Given the description of an element on the screen output the (x, y) to click on. 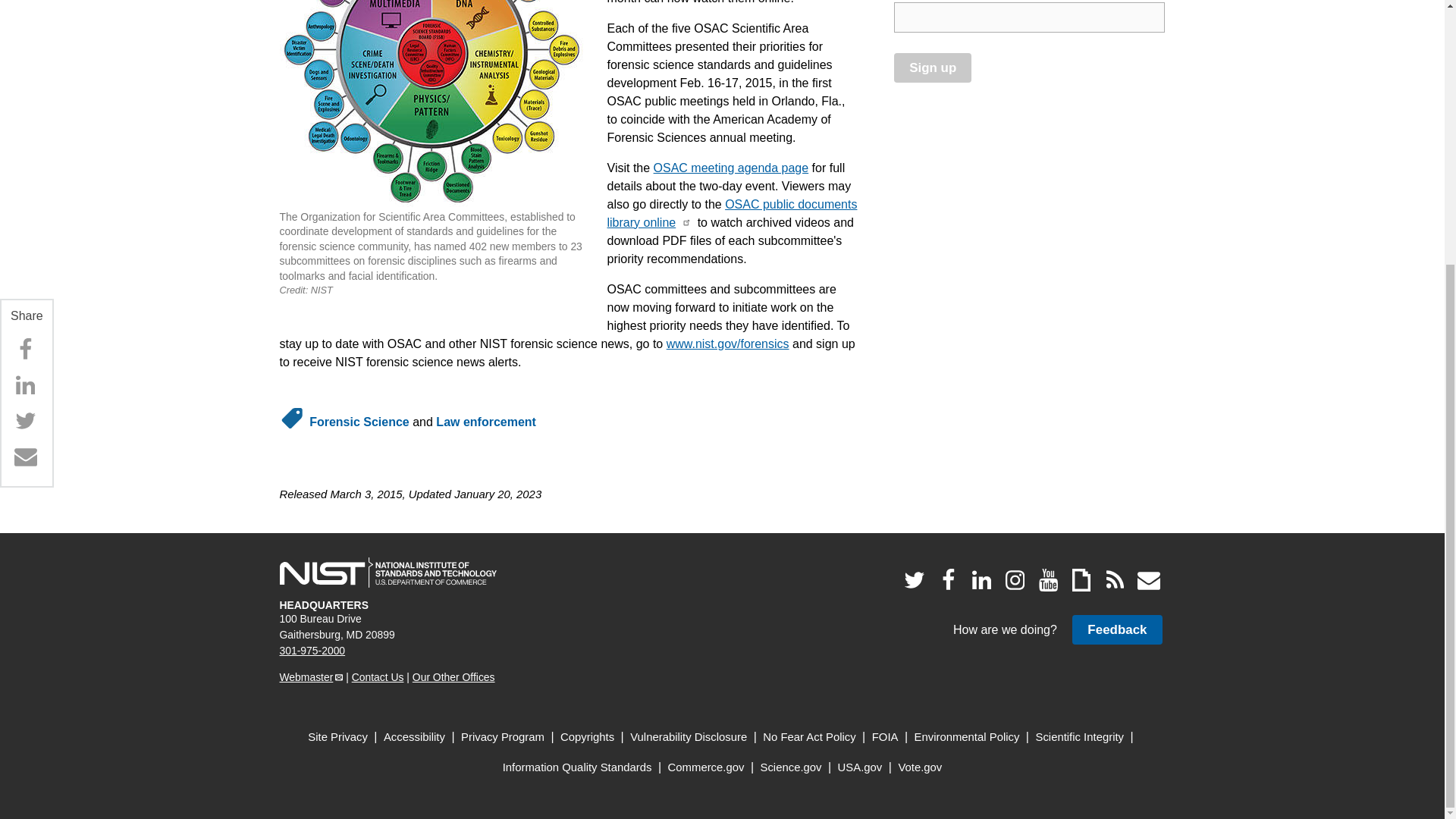
301-975-2000 (312, 650)
Our Other Offices (453, 676)
Forensic Science (358, 421)
Sign up (932, 67)
OSAC public documents library online (732, 213)
Webmaster (310, 676)
Email (25, 73)
Law enforcement (485, 421)
Twitter (25, 38)
OSAC meeting agenda page (731, 167)
Contact Us (378, 676)
Sign up (932, 67)
National Institute of Standards and Technology (387, 572)
Linkedin (25, 9)
Provide feedback (1116, 629)
